Given the description of an element on the screen output the (x, y) to click on. 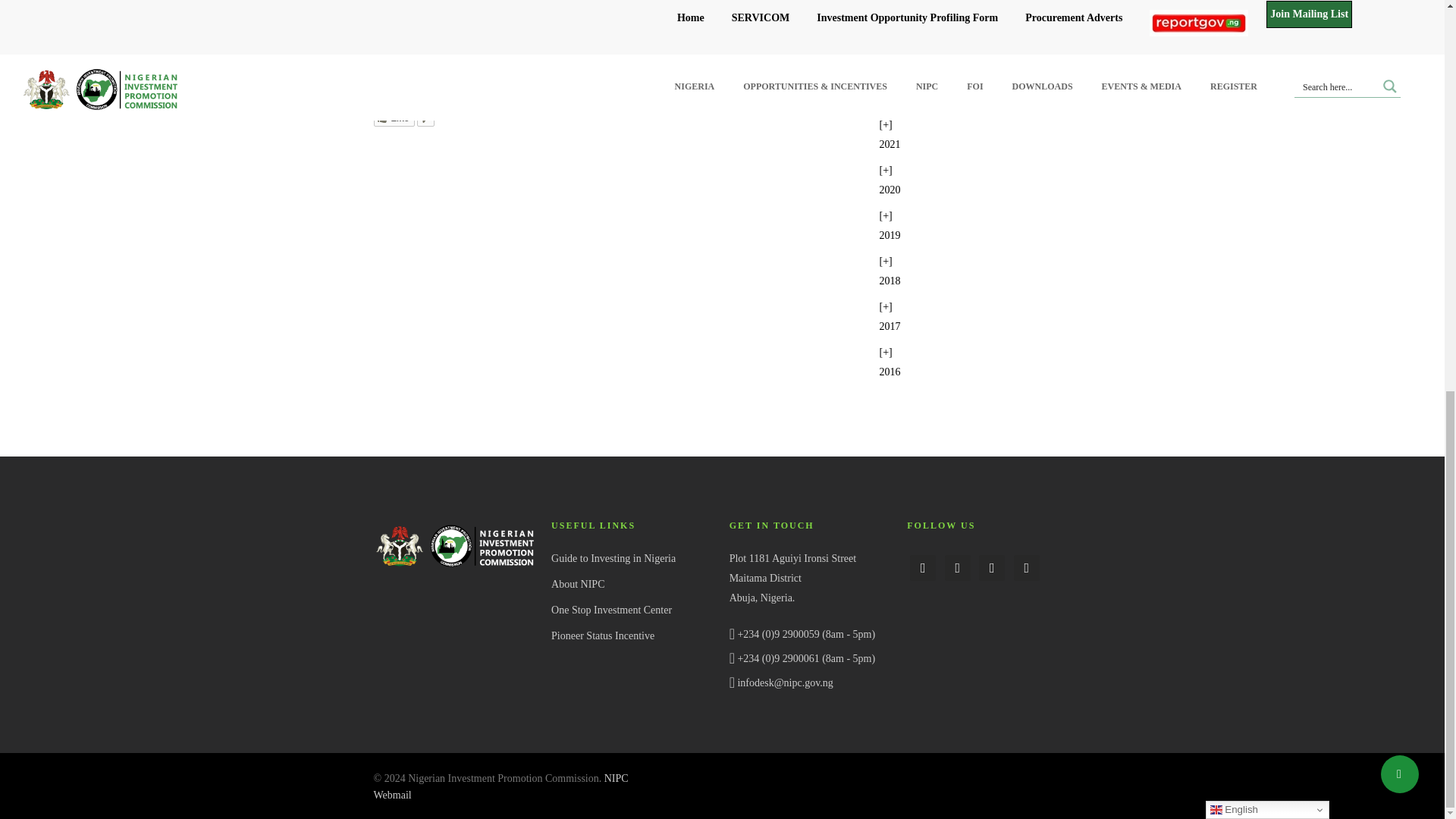
Instagram (991, 567)
Default Label (1026, 567)
Twitter (957, 567)
Facebook (923, 567)
